Given the description of an element on the screen output the (x, y) to click on. 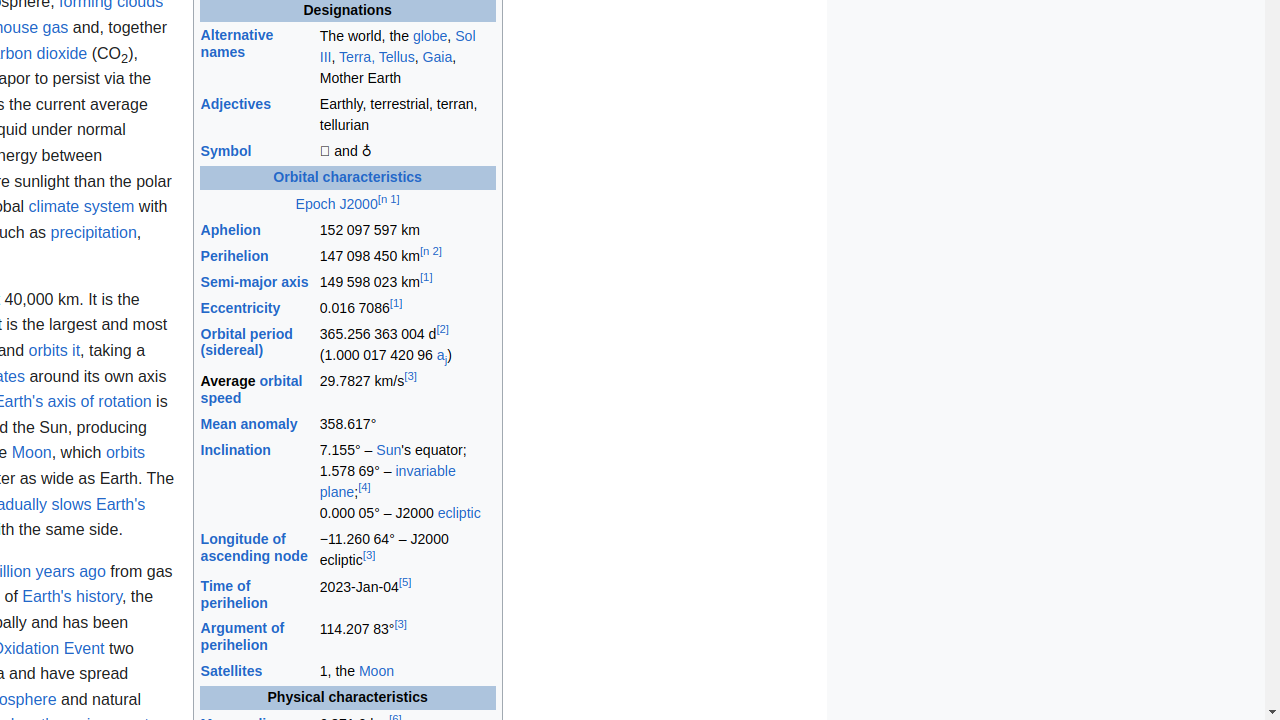
invariable plane Element type: link (387, 481)
